Given the description of an element on the screen output the (x, y) to click on. 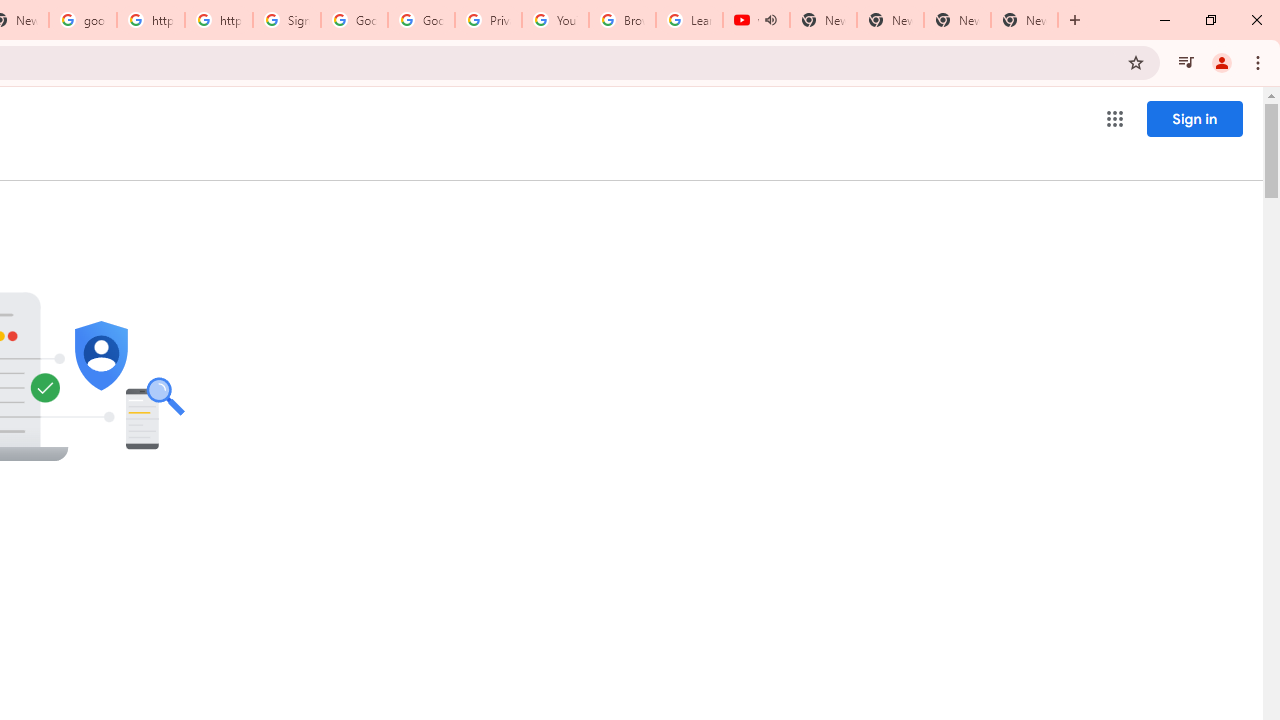
https://scholar.google.com/ (150, 20)
Sign in - Google Accounts (287, 20)
